Given the description of an element on the screen output the (x, y) to click on. 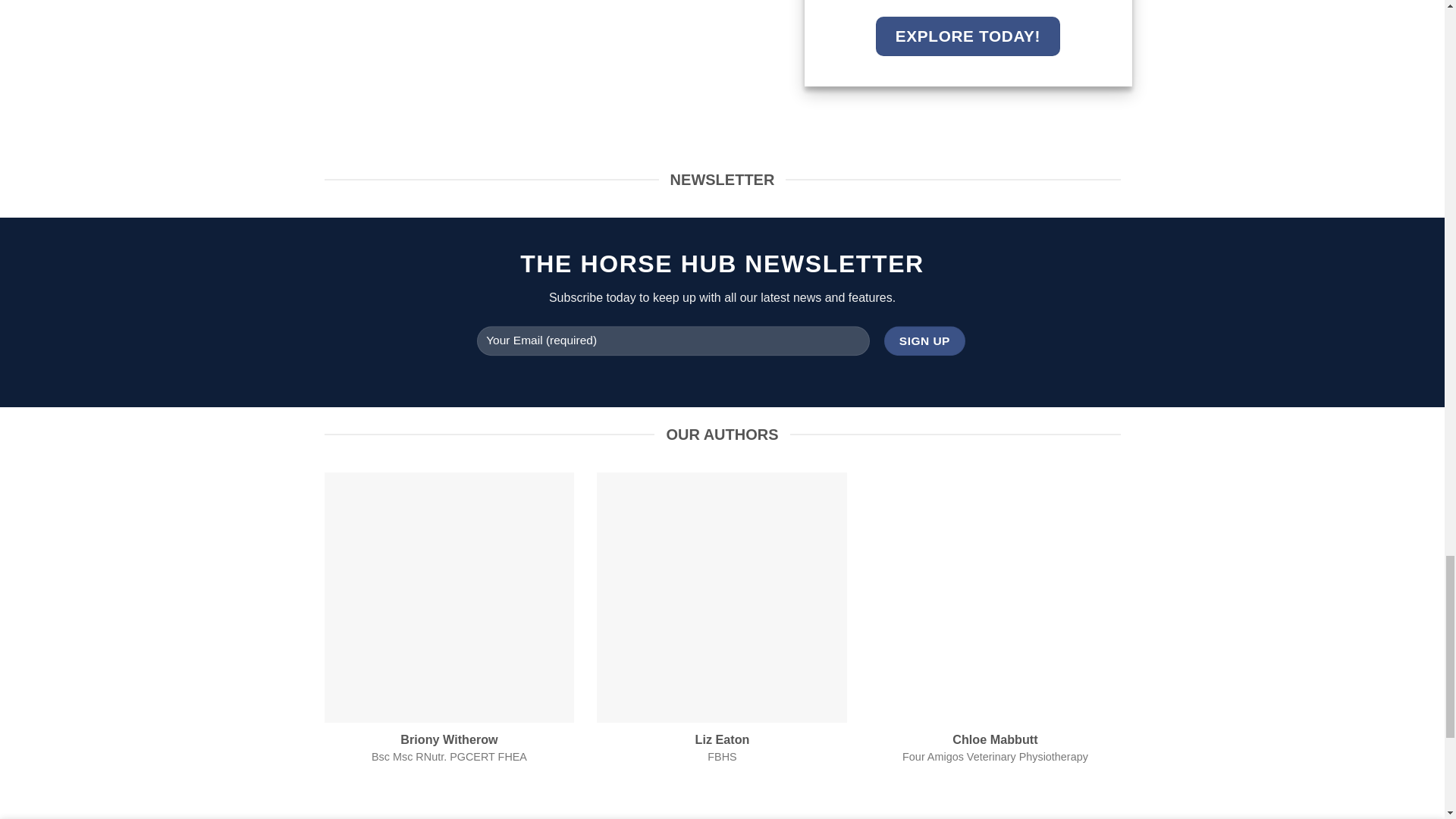
Sign Up (923, 340)
